Given the description of an element on the screen output the (x, y) to click on. 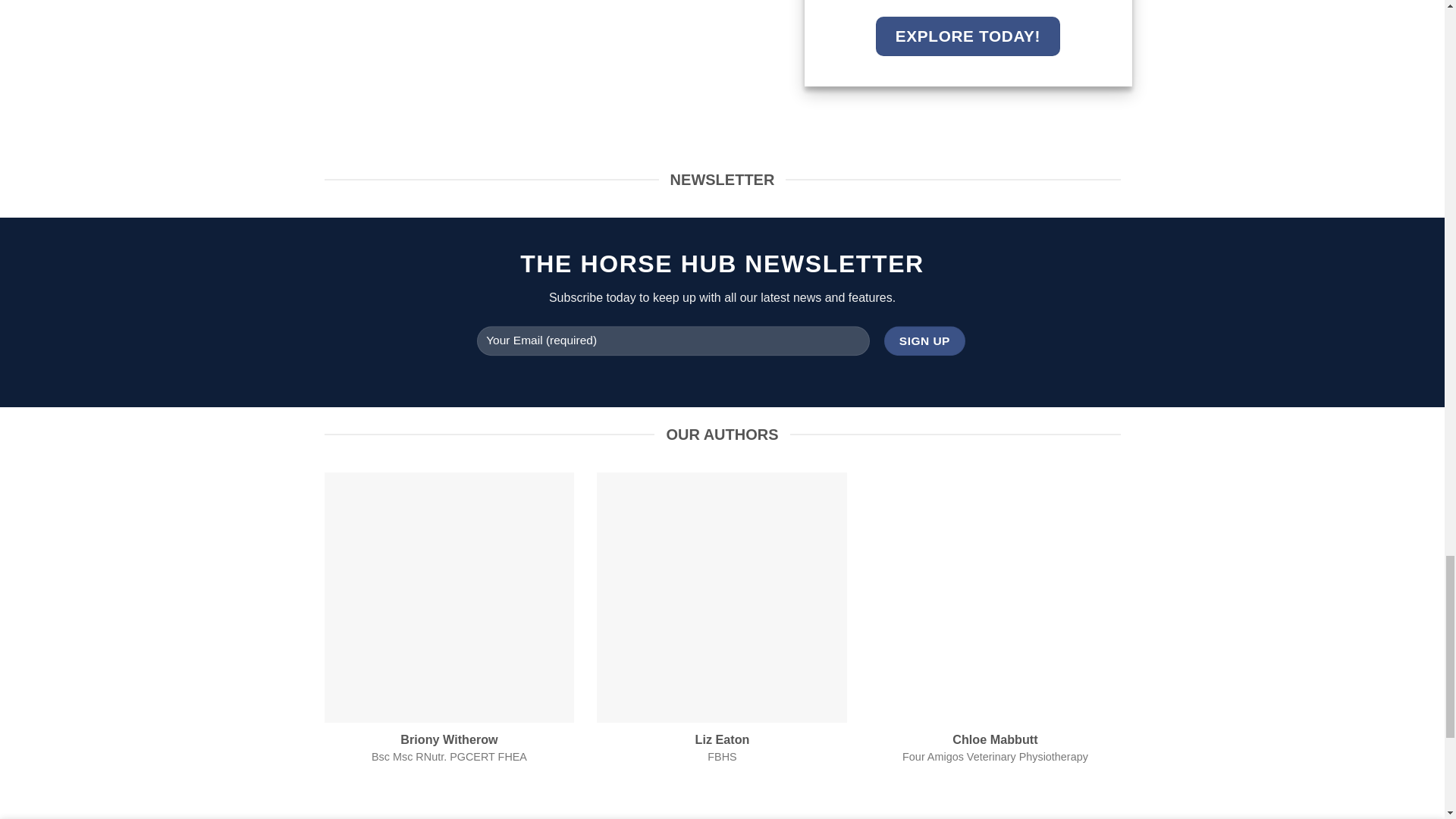
Sign Up (923, 340)
